Given the description of an element on the screen output the (x, y) to click on. 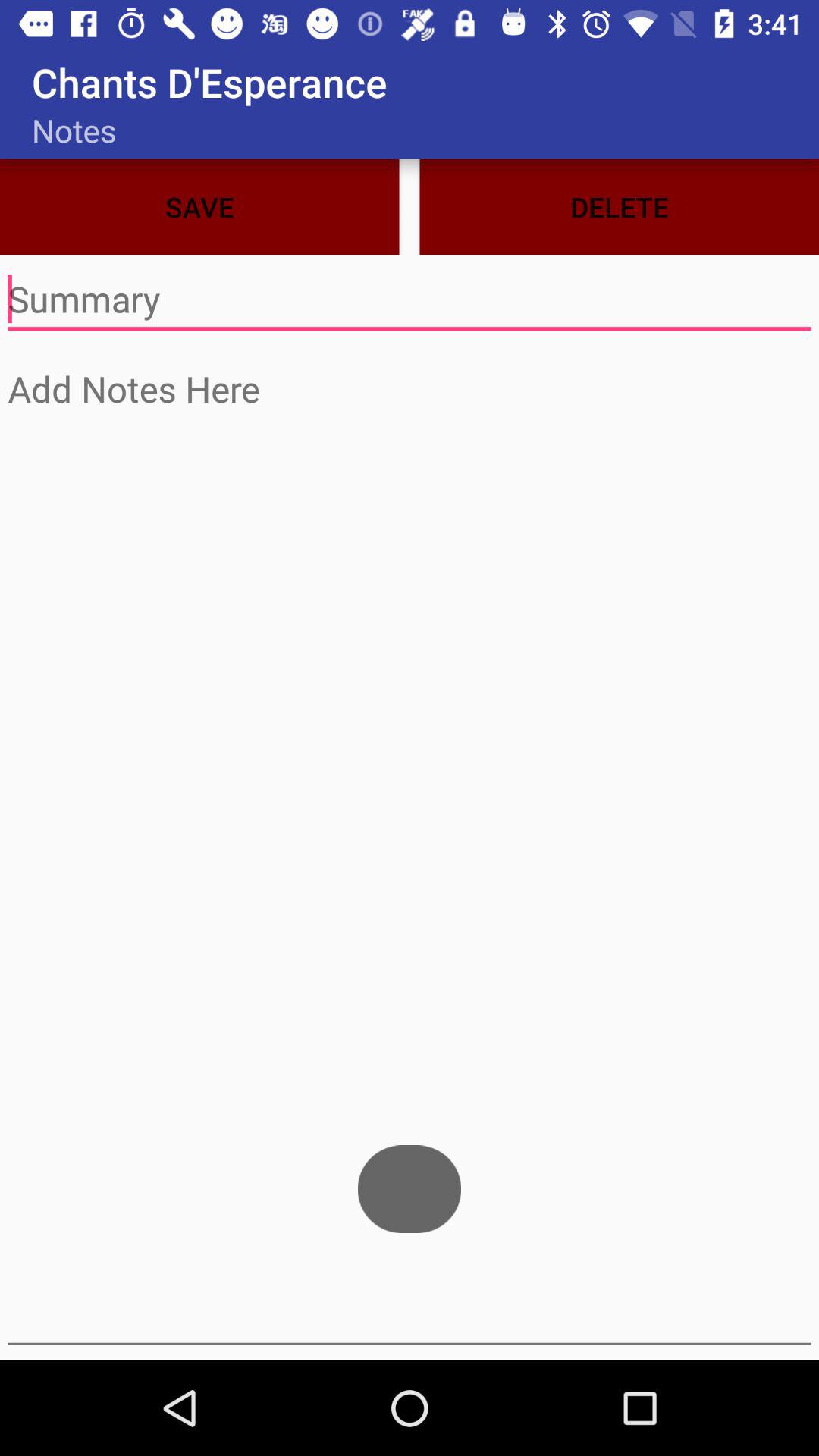
type summary (409, 299)
